Given the description of an element on the screen output the (x, y) to click on. 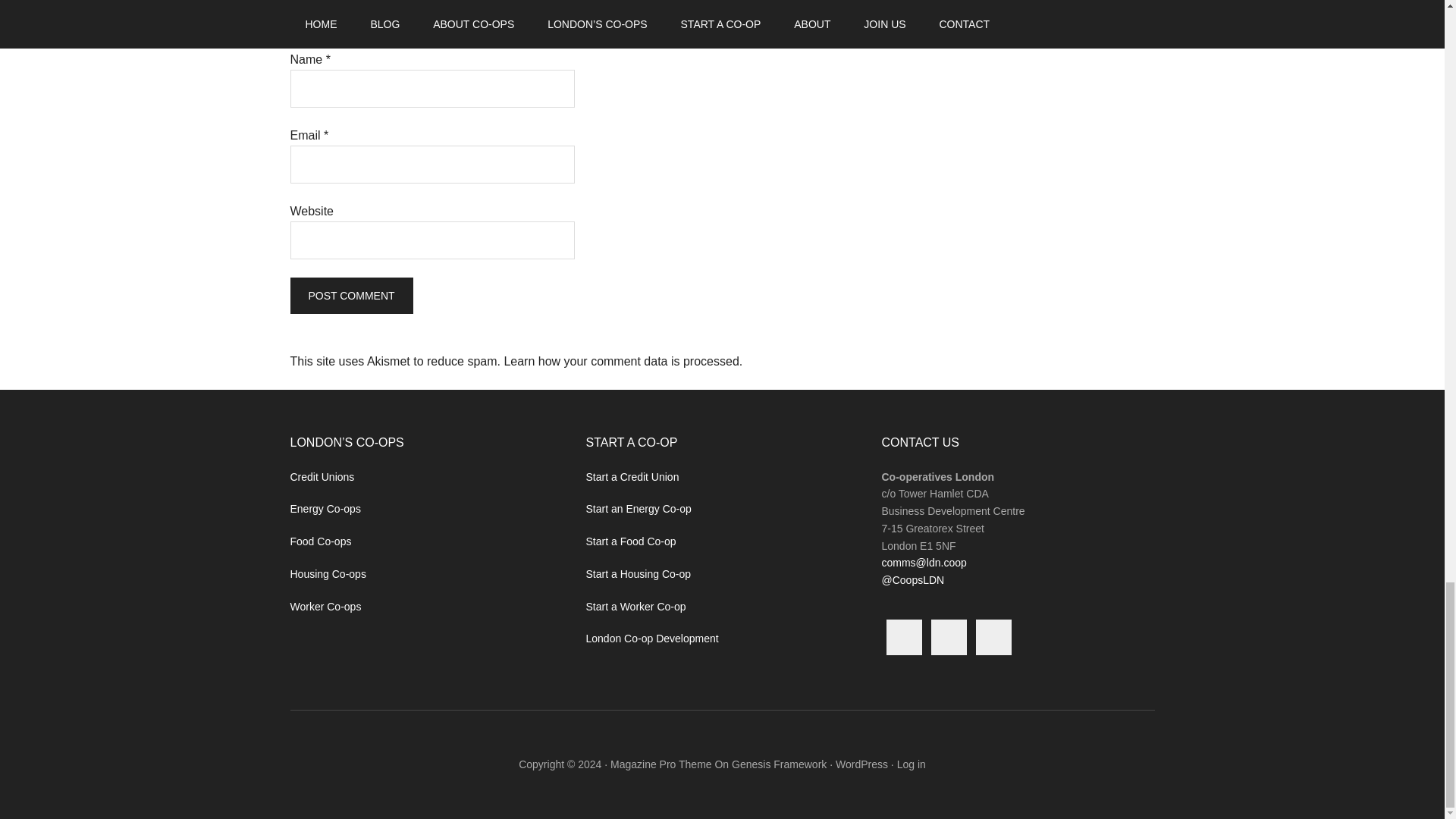
Post Comment (350, 295)
